Given the description of an element on the screen output the (x, y) to click on. 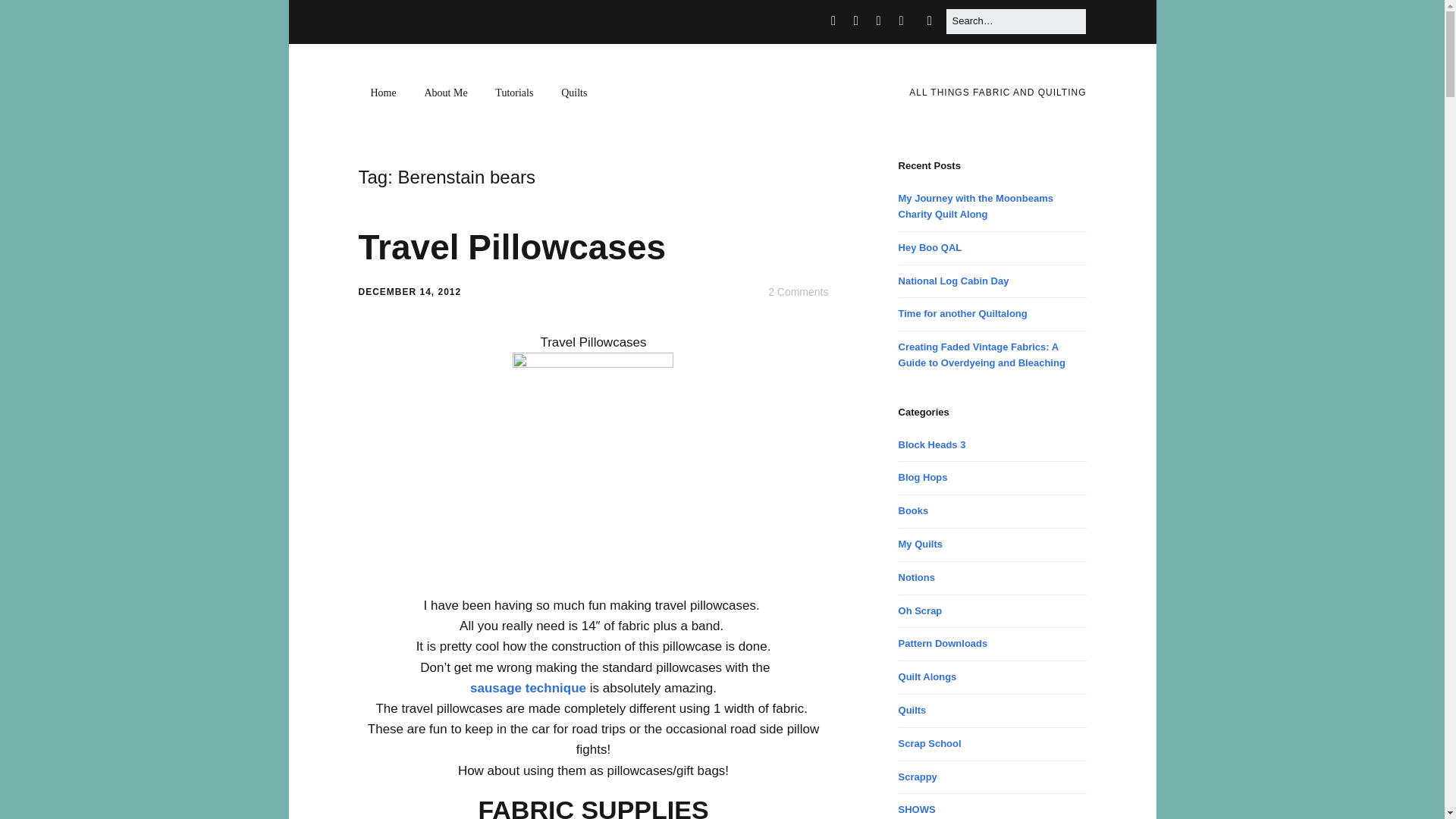
2 Comments (798, 291)
Home (382, 92)
Tutorials (513, 92)
sausage technique (528, 687)
DECEMBER 14, 2012 (409, 291)
About Me (445, 92)
Travel Pillowcases (511, 246)
Press Enter to submit your search (1015, 21)
Search (29, 16)
Quilts (573, 92)
